Given the description of an element on the screen output the (x, y) to click on. 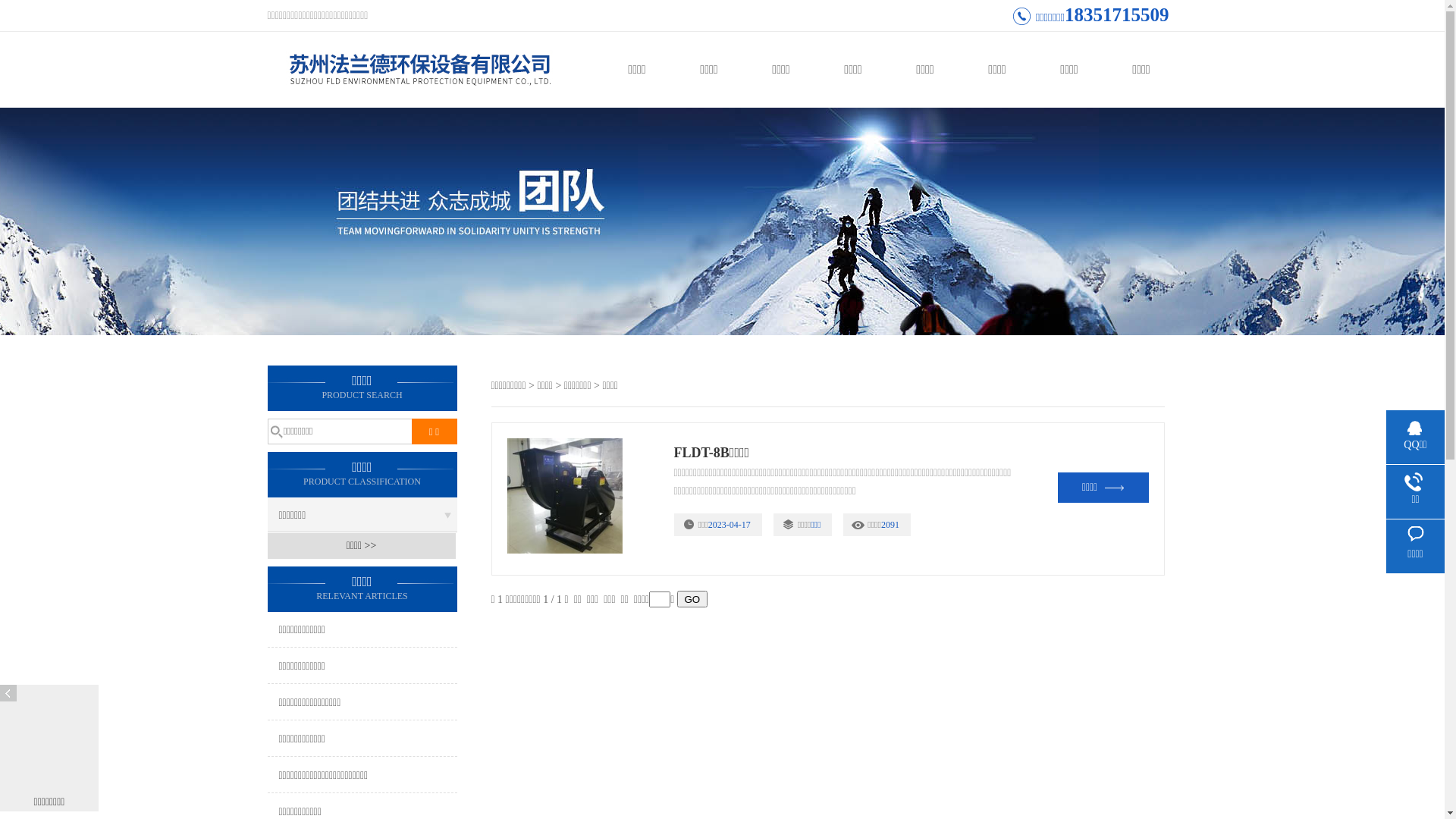
18351715509 Element type: text (1116, 14)
